Given the description of an element on the screen output the (x, y) to click on. 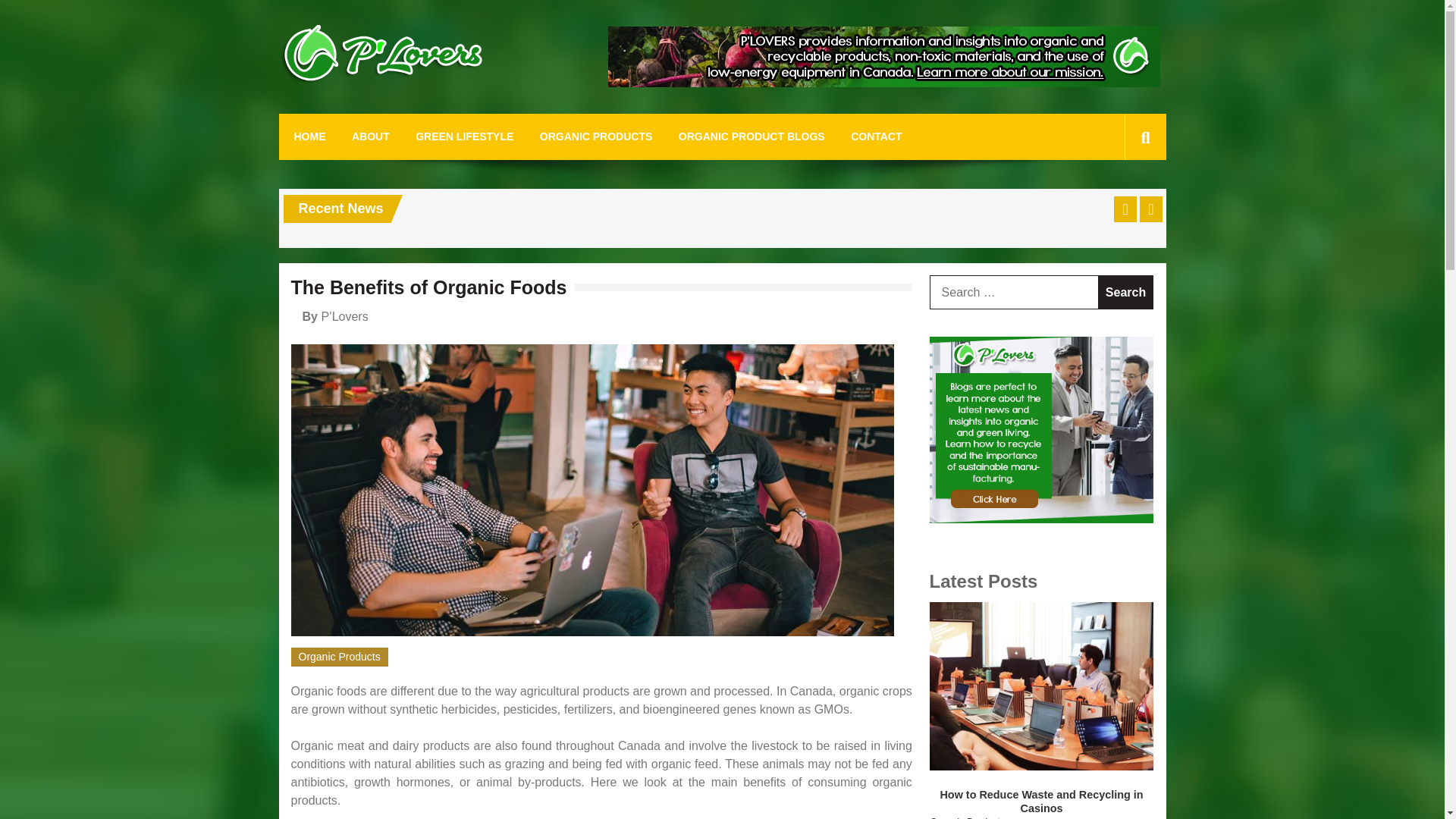
How to Reduce Waste and Recycling in Casinos (1042, 801)
Organic Product Blogs (1042, 518)
Organic Products (339, 656)
Search (1125, 292)
Search (1120, 204)
Search (1125, 292)
Search (1125, 292)
GREEN LIFESTYLE (463, 136)
CONTACT (875, 136)
ORGANIC PRODUCTS (596, 136)
ORGANIC PRODUCT BLOGS (751, 136)
About (884, 82)
